Given the description of an element on the screen output the (x, y) to click on. 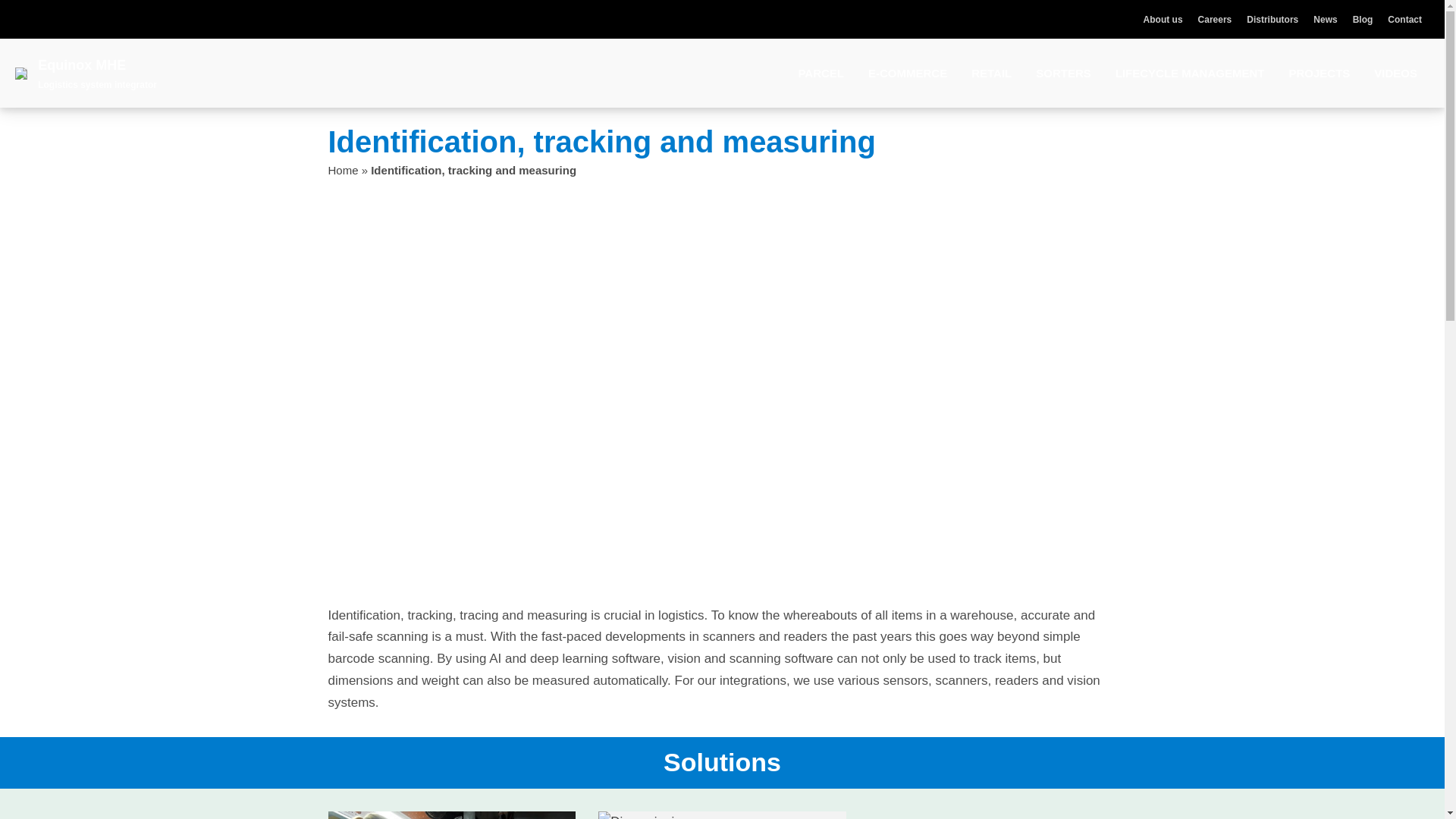
SORTERS (1063, 73)
News (1324, 19)
E-COMMERCE (907, 73)
LIFECYCLE MANAGEMENT (1190, 73)
RETAIL (991, 73)
Home (342, 169)
Contact (1404, 19)
Equinox MHE (81, 64)
Dimensioning Weighing Scanning (721, 815)
VIDEOS (1396, 73)
About us (1162, 19)
PROJECTS (1318, 73)
Blog (1362, 19)
Careers (1214, 19)
PARCEL (820, 73)
